Given the description of an element on the screen output the (x, y) to click on. 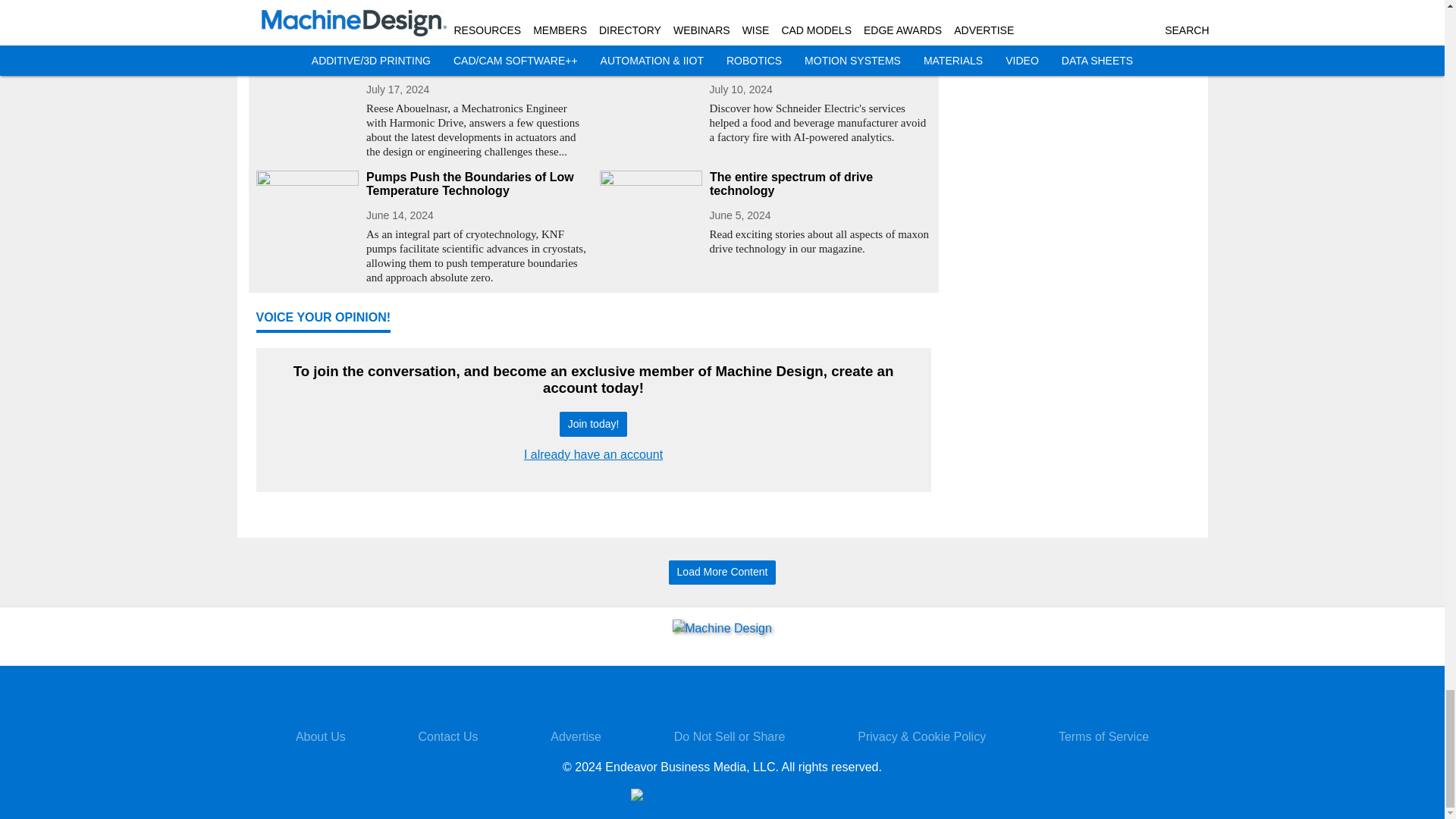
Pumps Push the Boundaries of Low Temperature Technology (476, 184)
How to Build Better Robotics with Integrated Actuators (476, 58)
The entire spectrum of drive technology (820, 184)
